Given the description of an element on the screen output the (x, y) to click on. 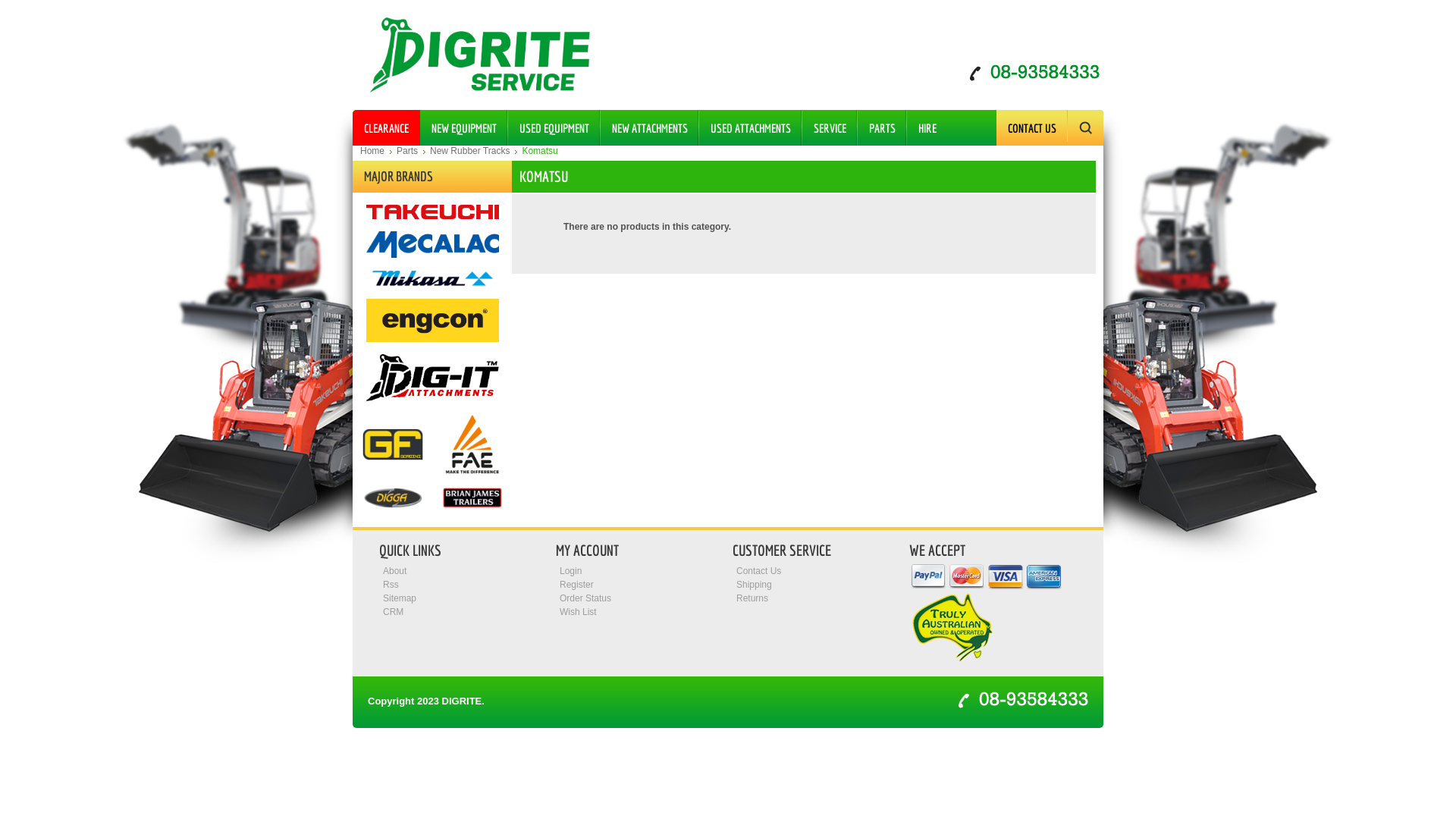
New Rubber Tracks Element type: text (473, 150)
Parts Element type: text (410, 150)
Register Element type: text (576, 584)
Contact Us Element type: text (758, 570)
Order Status Element type: text (585, 598)
Home Element type: text (376, 150)
Wish List Element type: text (577, 611)
SERVICE Element type: text (829, 127)
CRM Element type: text (392, 611)
Returns Element type: text (752, 598)
CONTACT US Element type: text (1031, 127)
Rss Element type: text (390, 584)
CLEARANCE Element type: text (386, 127)
Login Element type: text (570, 570)
Shipping Element type: text (753, 584)
About Element type: text (394, 570)
Sitemap Element type: text (399, 598)
